Given the description of an element on the screen output the (x, y) to click on. 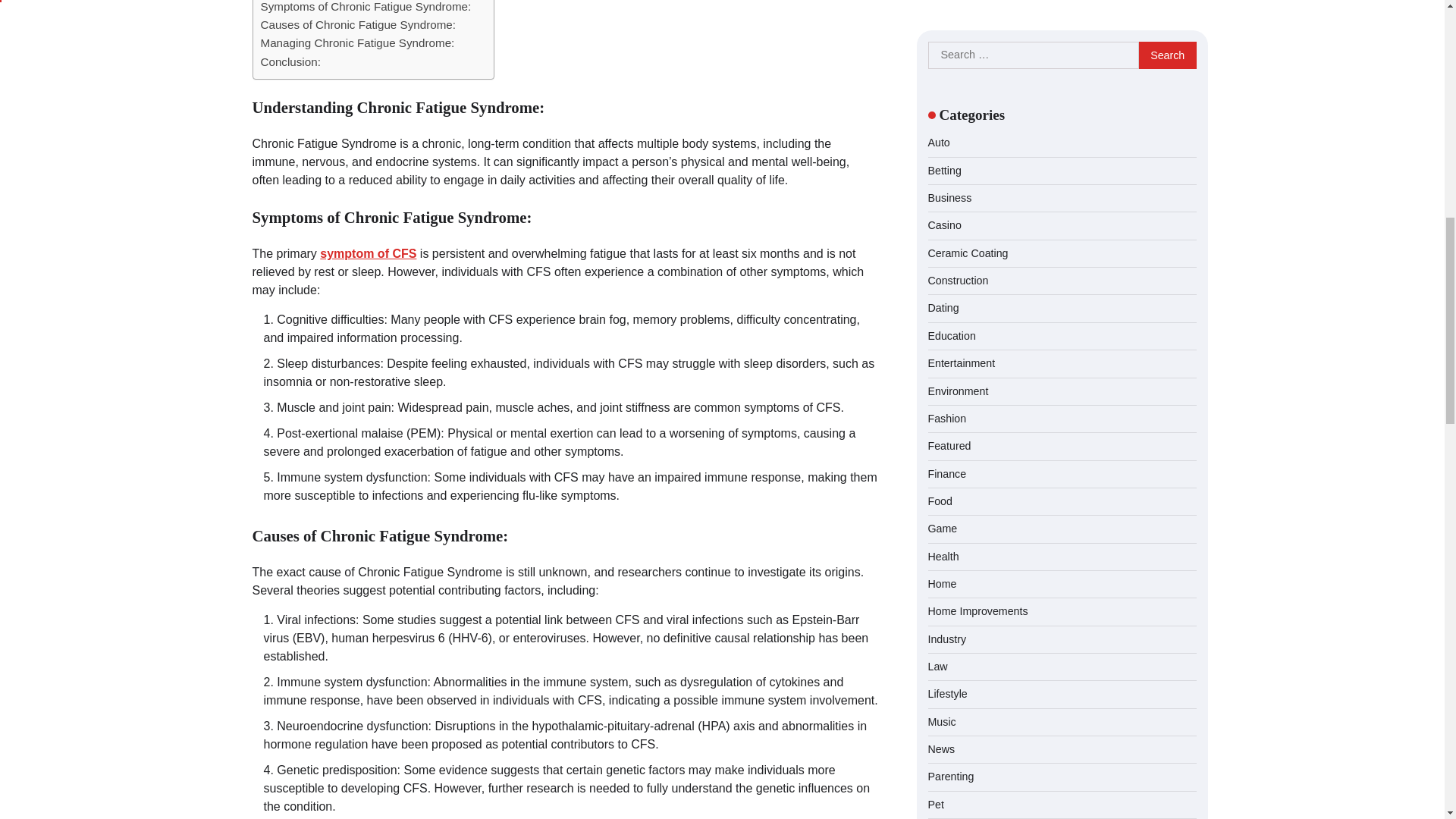
Managing Chronic Fatigue Syndrome: (357, 43)
Conclusion: (290, 62)
Managing Chronic Fatigue Syndrome: (357, 43)
Symptoms of Chronic Fatigue Syndrome: (365, 7)
Causes of Chronic Fatigue Syndrome: (357, 24)
Symptoms of Chronic Fatigue Syndrome: (365, 7)
symptom of CFS (368, 253)
Causes of Chronic Fatigue Syndrome: (357, 24)
Conclusion: (290, 62)
